Given the description of an element on the screen output the (x, y) to click on. 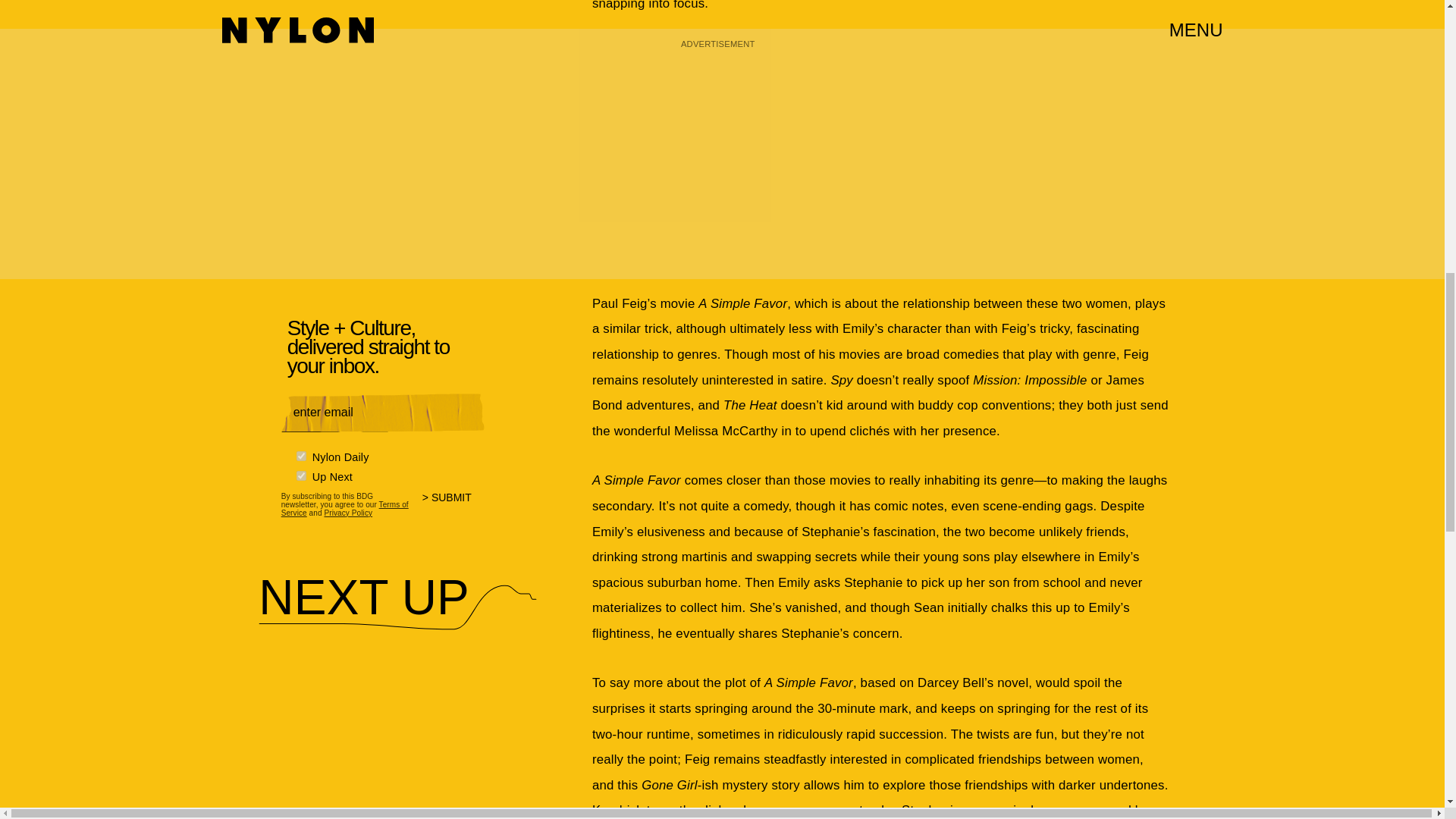
Privacy Policy (347, 510)
Terms of Service (345, 506)
SUBMIT (453, 503)
